Given the description of an element on the screen output the (x, y) to click on. 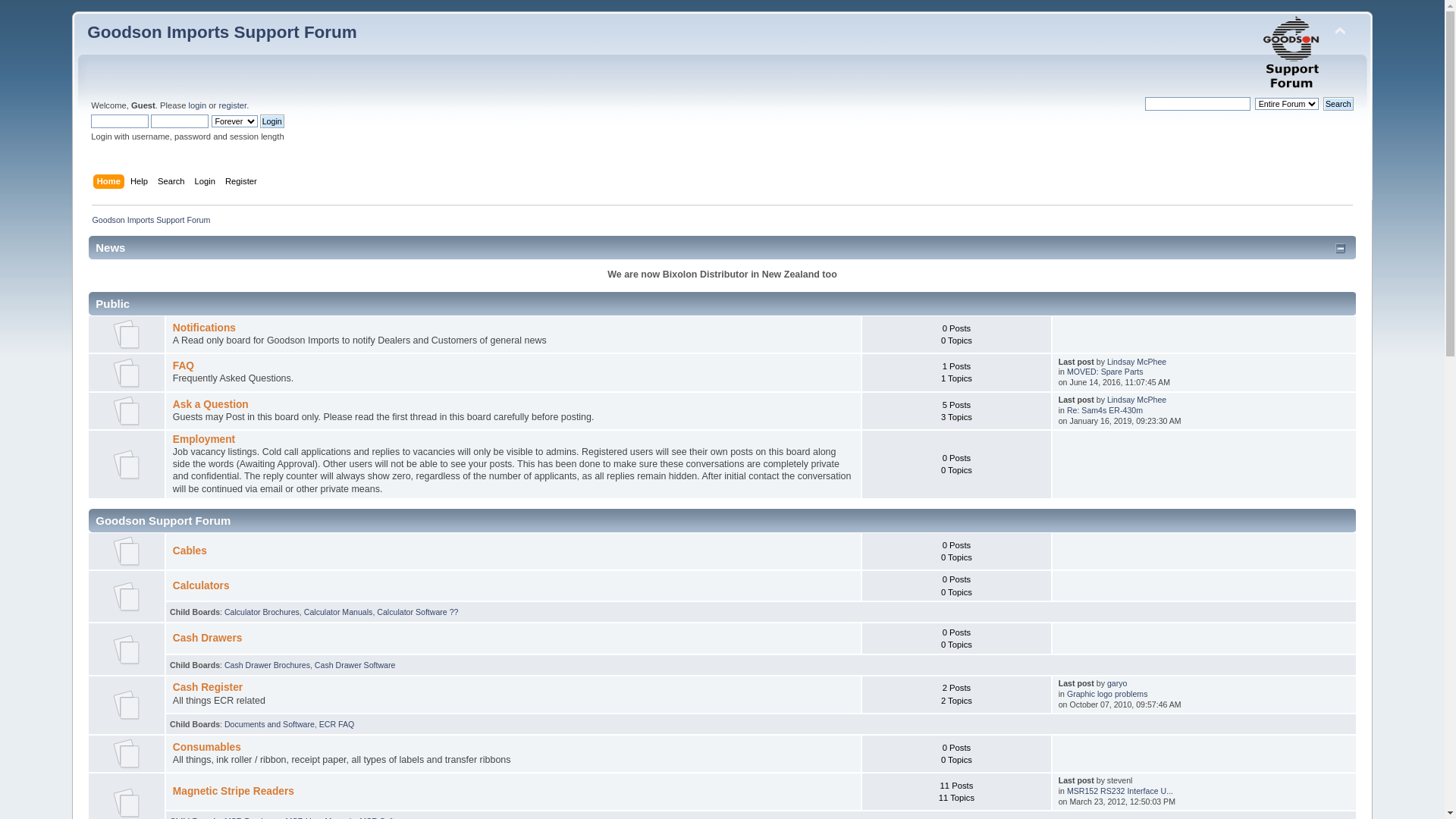
FAQ Element type: text (183, 365)
No New Posts Element type: hover (126, 410)
Calculator Software ?? Element type: text (417, 611)
Calculators Element type: text (200, 585)
No New Posts Element type: hover (126, 595)
Goodson Imports Support Forum Element type: text (150, 219)
Shrink or expand the header. Element type: hover (1340, 247)
Re: Sam4s ER-430m Element type: text (1104, 409)
No New Posts Element type: hover (126, 550)
Login Element type: text (272, 121)
No New Posts Element type: hover (126, 464)
Shrink or expand the header. Element type: hover (1339, 31)
Calculator Manuals Element type: text (338, 611)
Lindsay McPhee Element type: text (1136, 399)
Lindsay McPhee Element type: text (1136, 361)
Cash Register Element type: text (207, 687)
Goodson Imports Support Forum Element type: hover (1292, 53)
Cash Drawers Element type: text (207, 637)
Graphic logo problems Element type: text (1107, 693)
Magnetic Stripe Readers Element type: text (233, 791)
Login Element type: text (206, 182)
No New Posts Element type: hover (126, 333)
MOVED: Spare Parts Element type: text (1104, 371)
Cash Drawer Brochures Element type: text (267, 664)
Calculator Brochures Element type: text (261, 611)
Search Element type: text (172, 182)
Consumables Element type: text (206, 747)
Search Element type: text (1338, 103)
Notifications Element type: text (203, 327)
No New Posts Element type: hover (126, 802)
Cash Drawer Software Element type: text (354, 664)
Ask a Question Element type: text (210, 404)
No New Posts Element type: hover (126, 704)
Register Element type: text (242, 182)
Help Element type: text (140, 182)
Employment Element type: text (203, 439)
ECR FAQ Element type: text (336, 723)
Home Element type: text (110, 182)
login Element type: text (197, 104)
No New Posts Element type: hover (126, 752)
Cables Element type: text (189, 550)
Goodson Imports Support Forum Element type: text (221, 31)
No New Posts Element type: hover (126, 372)
Documents and Software Element type: text (269, 723)
register Element type: text (232, 104)
MSR152 RS232 Interface U... Element type: text (1119, 790)
No New Posts Element type: hover (126, 649)
garyo Element type: text (1117, 682)
